Given the description of an element on the screen output the (x, y) to click on. 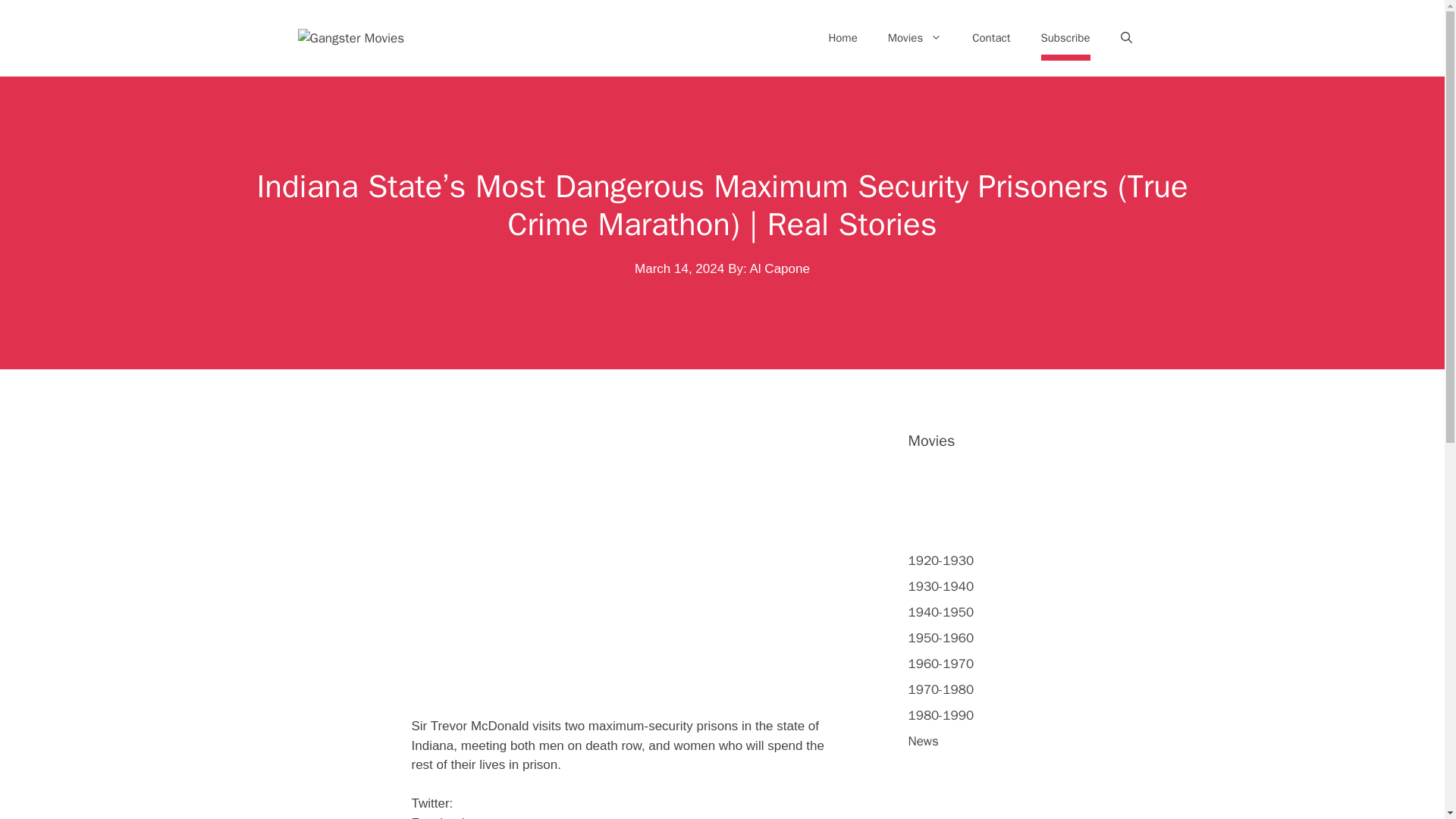
1920-1930 (941, 560)
Home (842, 37)
Contact (990, 37)
Subscribe (1065, 37)
Movies (914, 37)
1940-1950 (941, 611)
1960-1970 (941, 663)
1930-1940 (941, 586)
1950-1960 (941, 637)
